Given the description of an element on the screen output the (x, y) to click on. 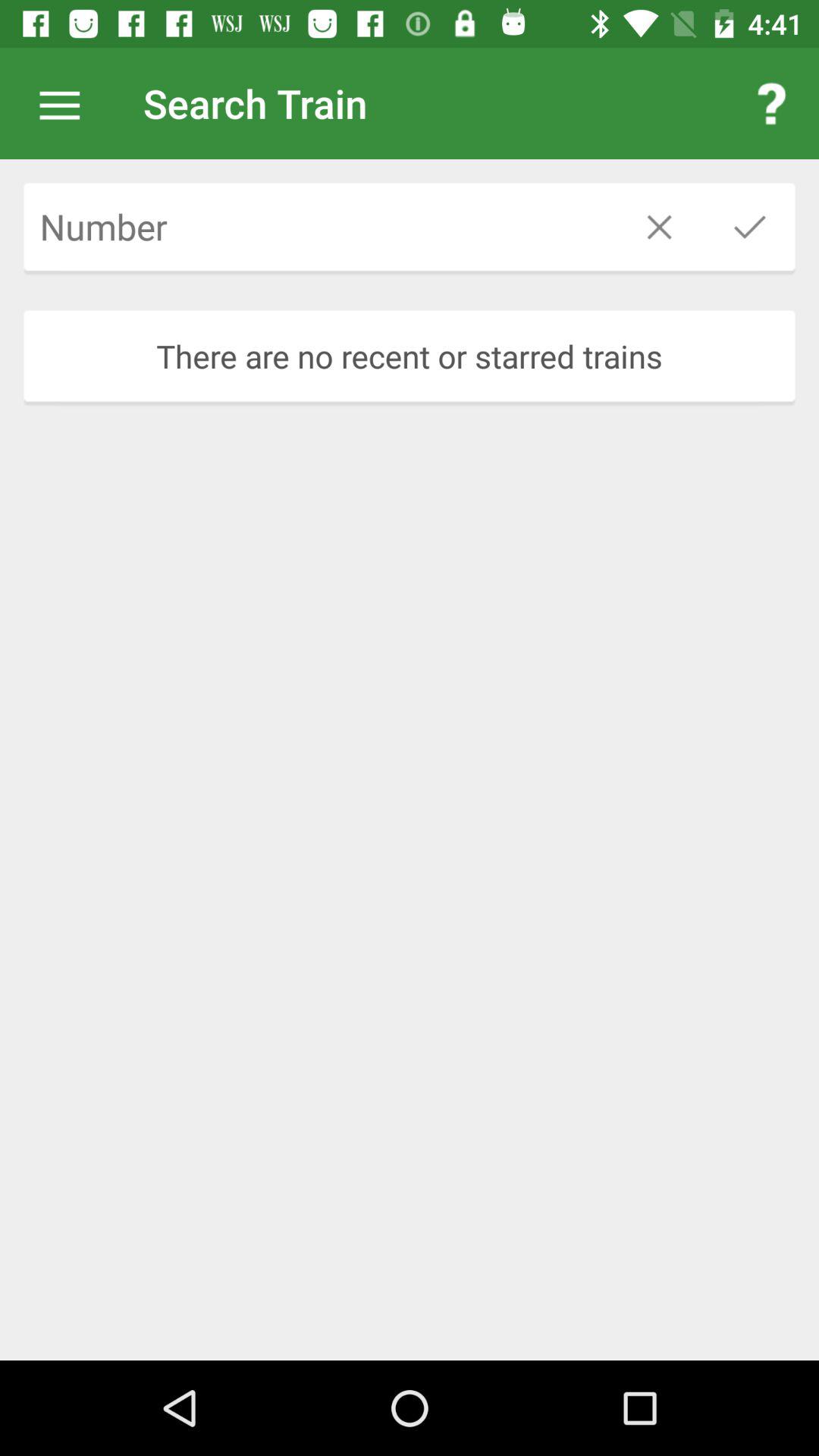
search by number (318, 226)
